Given the description of an element on the screen output the (x, y) to click on. 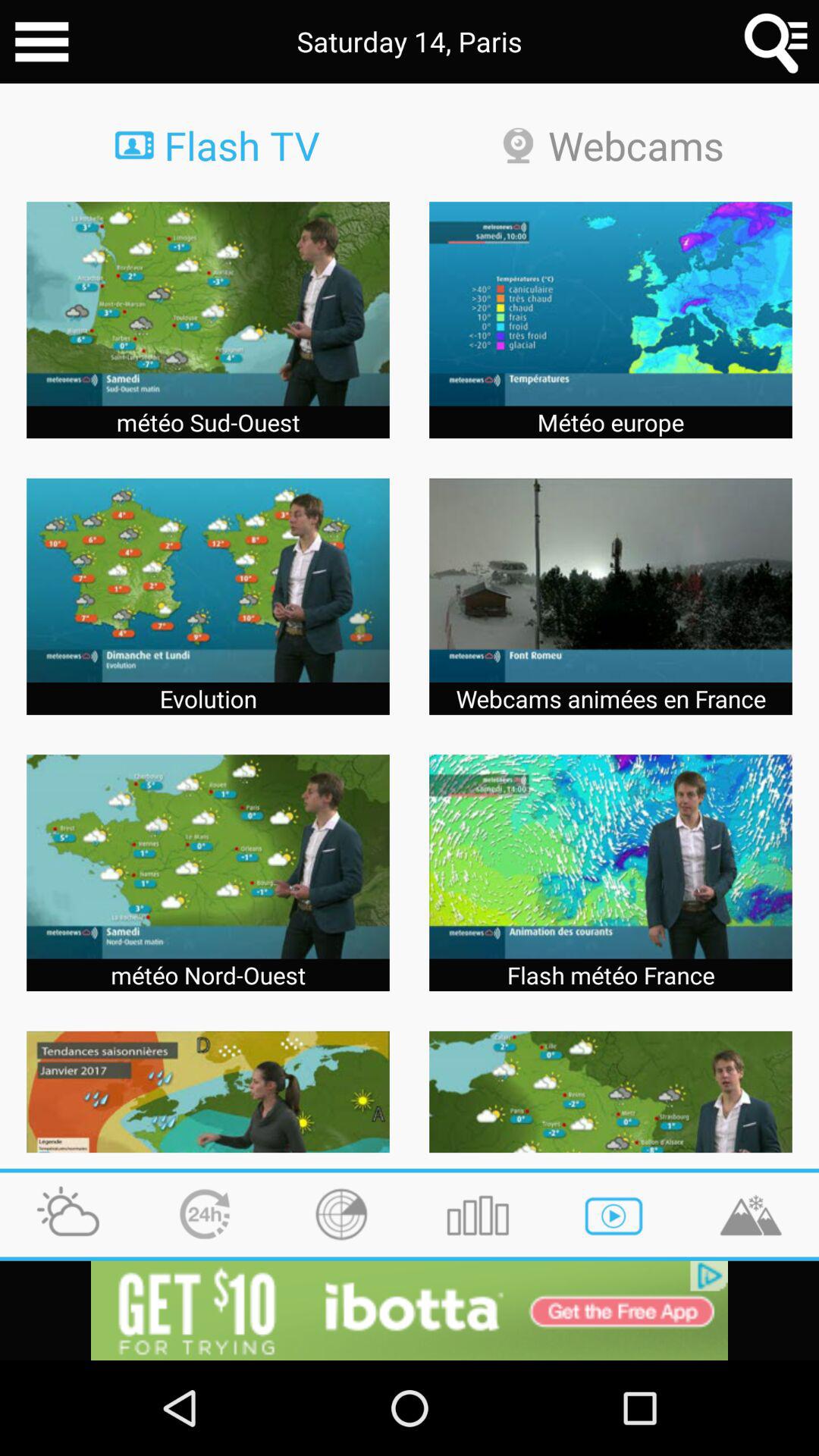
add app install (409, 1310)
